Given the description of an element on the screen output the (x, y) to click on. 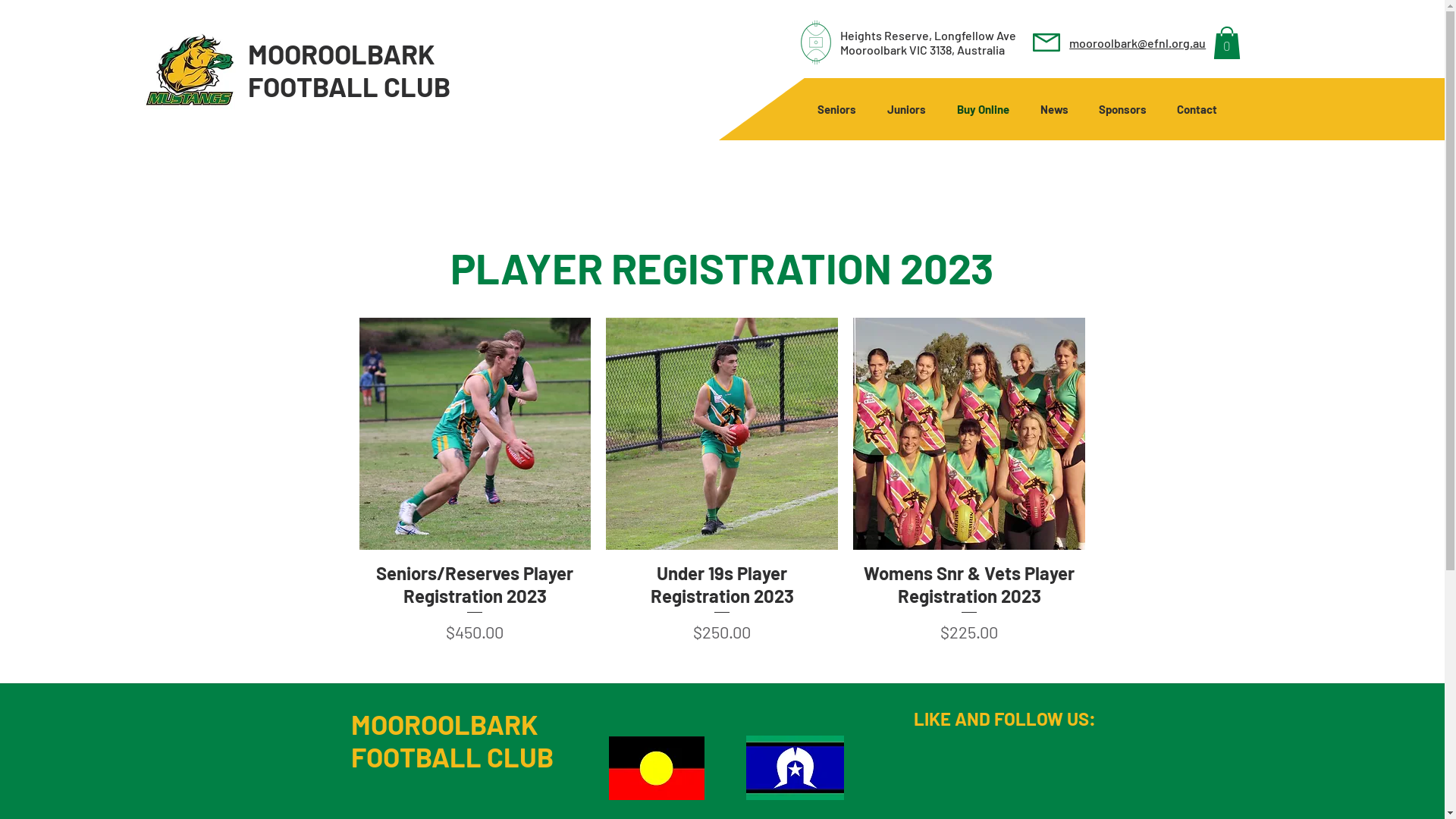
Under 19s Player Registration 2023
Price
$250.00 Element type: text (721, 602)
aboriginal-flag-27713.jpg Element type: hover (655, 768)
News Element type: text (1054, 108)
Sponsors Element type: text (1122, 108)
Juniors Element type: text (906, 108)
Seniors/Reserves Player Registration 2023
Price
$450.00 Element type: text (475, 602)
Buy Online Element type: text (983, 108)
FOOTBALL CLUB Element type: text (348, 85)
Contact Element type: text (1196, 108)
MOOROOLBARK Element type: text (341, 53)
0 Element type: text (1226, 42)
FOOTBALL CLUB Element type: text (451, 756)
Womens Snr & Vets Player Registration 2023
Price
$225.00 Element type: text (969, 602)
mooroolbark@efnl.org.au Element type: text (1137, 42)
MOOROOLBARK Element type: text (443, 723)
